Given the description of an element on the screen output the (x, y) to click on. 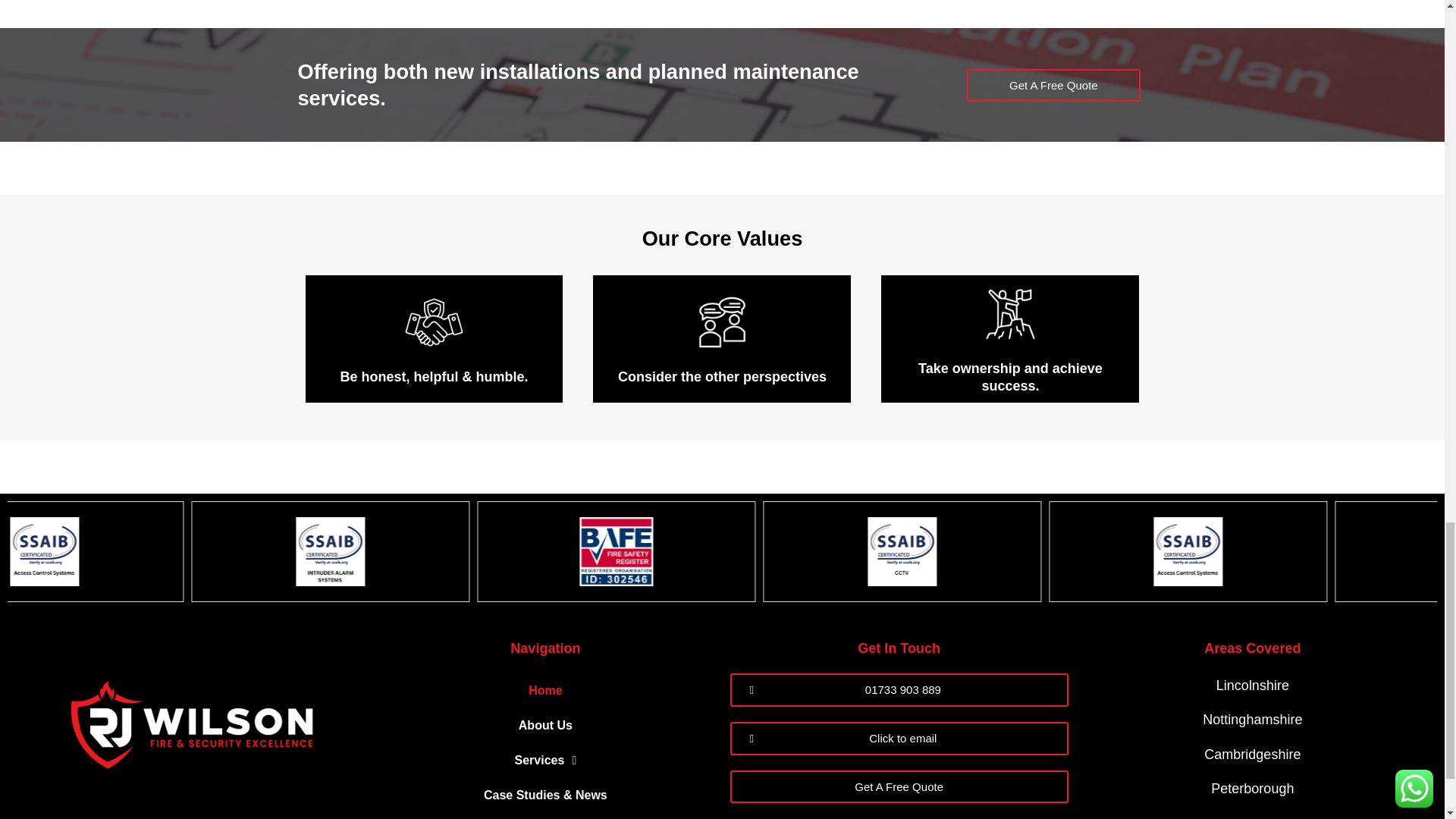
Get A Free Quote (1053, 84)
